Given the description of an element on the screen output the (x, y) to click on. 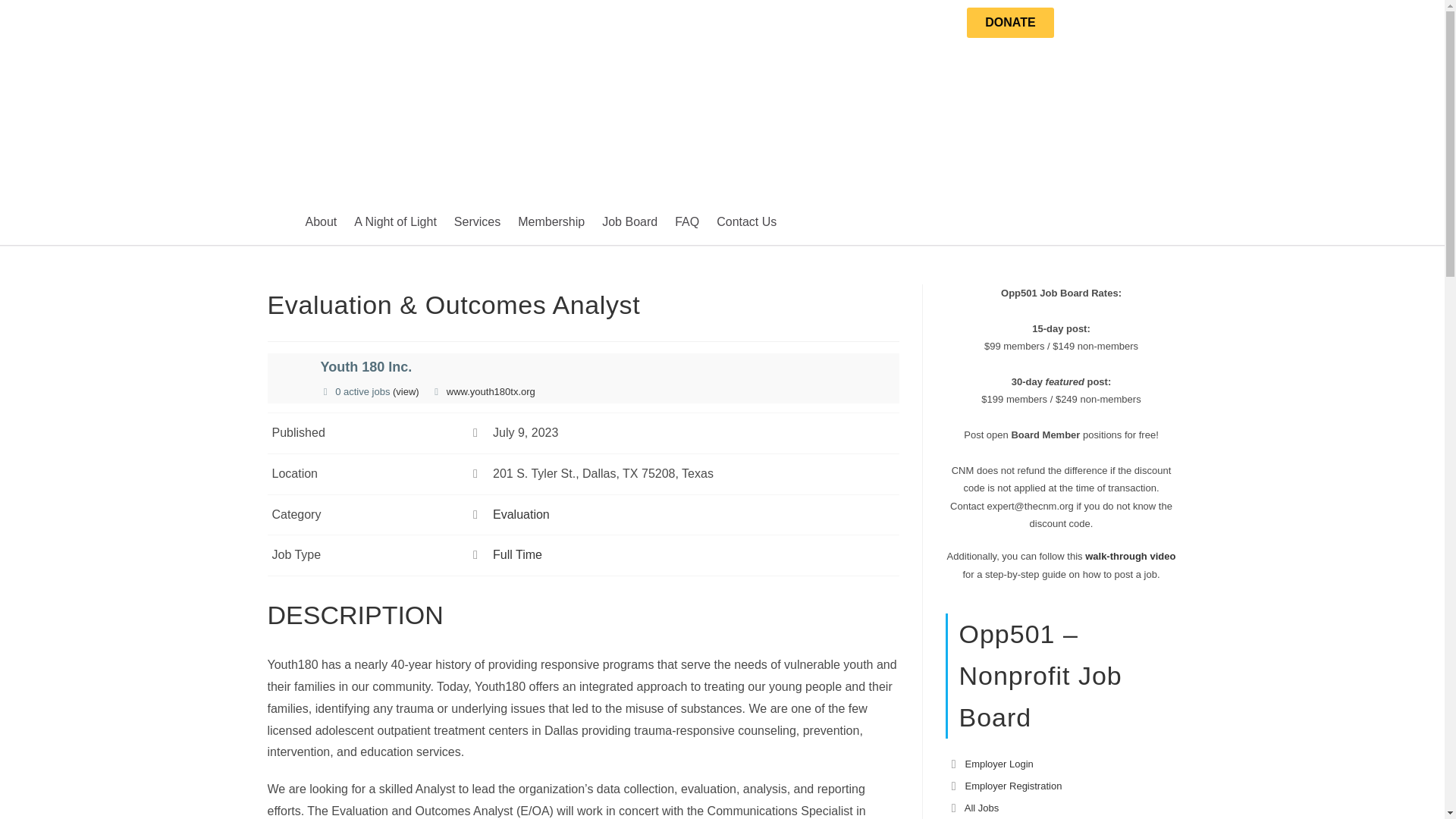
Job Board (629, 222)
A Night of Light (395, 222)
DONATE (1009, 22)
About (320, 222)
Services (477, 222)
Contact Us (746, 222)
Membership (551, 222)
FAQ (686, 222)
